Given the description of an element on the screen output the (x, y) to click on. 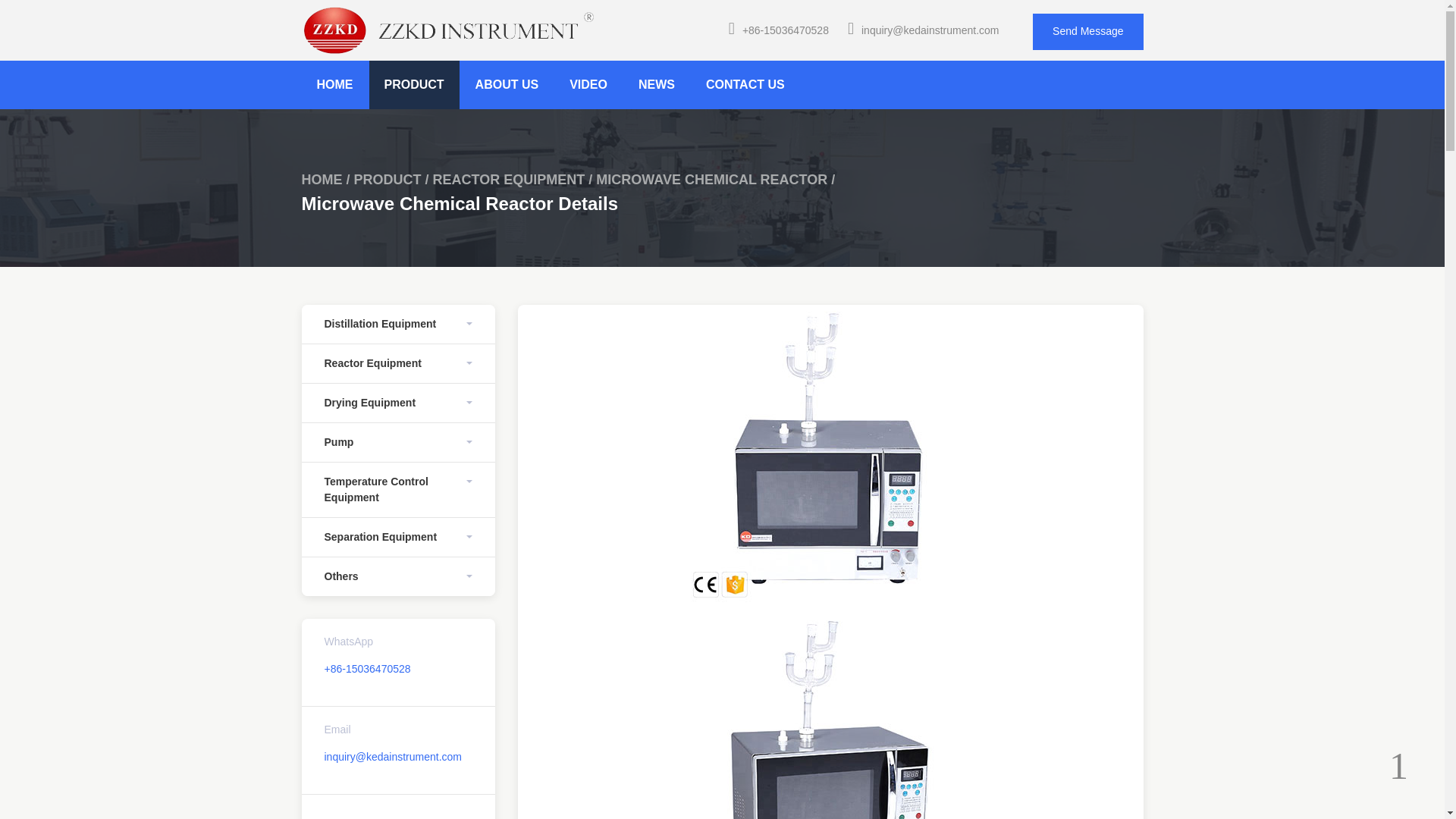
PRODUCT (387, 179)
CONTACT US (744, 84)
REACTOR EQUIPMENT (508, 179)
HOME (321, 179)
VIDEO (588, 84)
PRODUCT (413, 84)
ABOUT US (507, 84)
HOME (334, 84)
Send Message (1087, 31)
NEWS (656, 84)
